Given the description of an element on the screen output the (x, y) to click on. 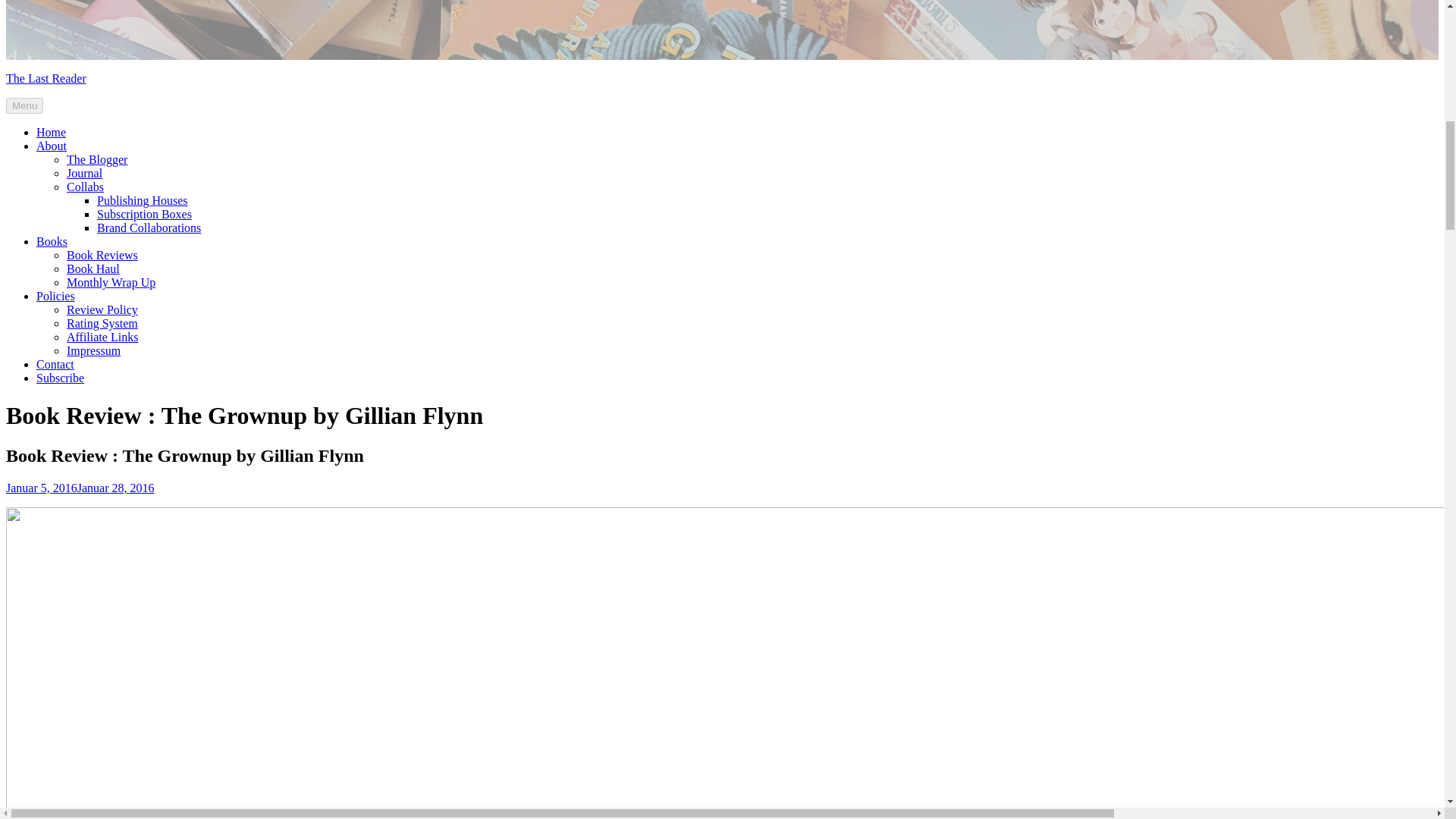
kath (165, 487)
Send (1339, 180)
Publishing Houses (142, 200)
Review Policy (102, 309)
The Last Reader (45, 78)
Affiliate Links (102, 336)
Book Reviews (102, 254)
Monthly Wrap Up (110, 282)
Book Haul (92, 268)
Policies (55, 295)
The Blogger (97, 159)
About (51, 145)
Brand Collaborations (148, 227)
Impressum (93, 350)
Collabs (84, 186)
